Given the description of an element on the screen output the (x, y) to click on. 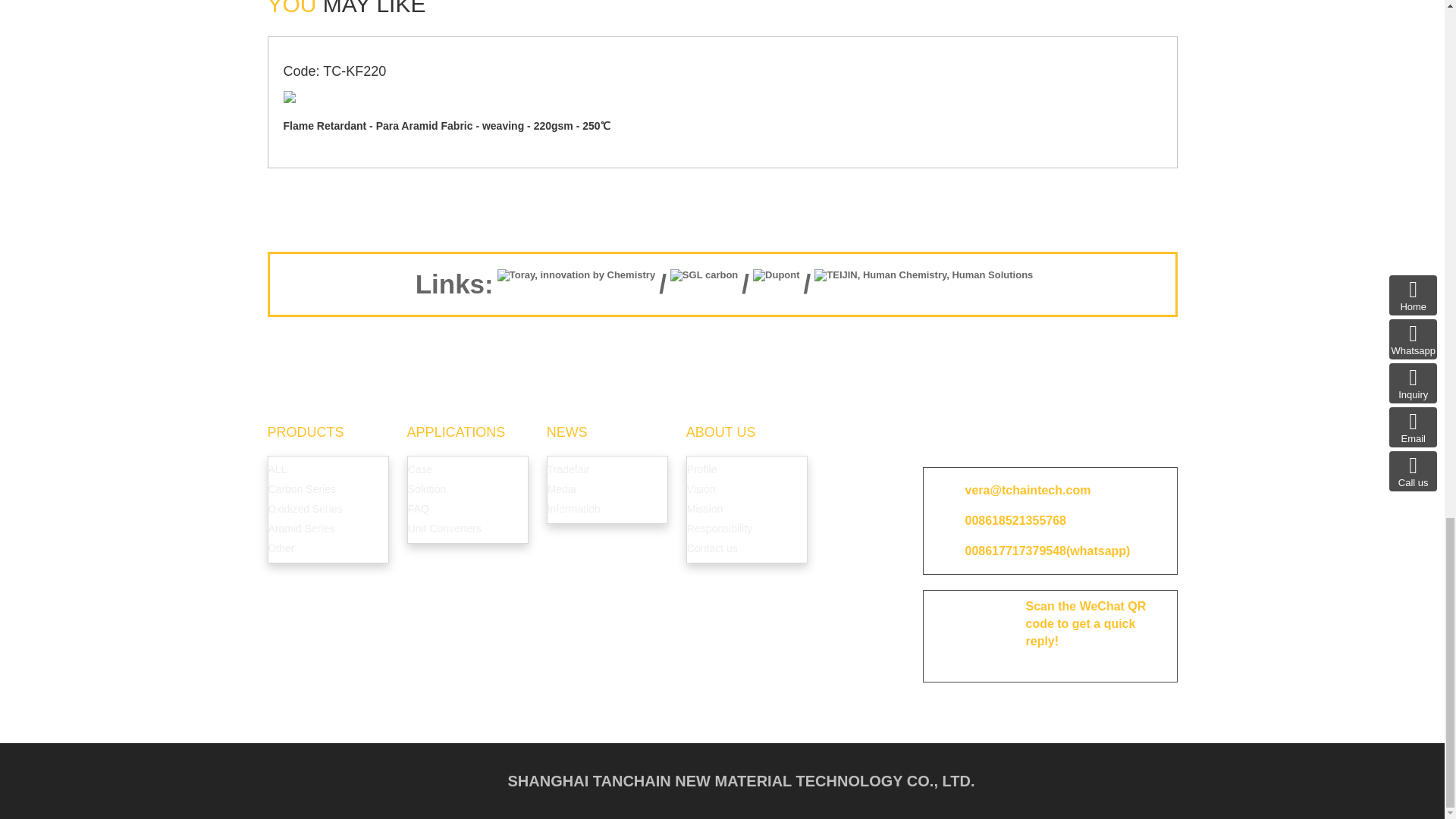
TEIJIN, Human Chemistry, Human Solutions (922, 284)
Linkedin (995, 437)
Facebook (951, 437)
Youtube (1039, 437)
Toray, innovation by Chemistry (576, 284)
Dupont (775, 284)
SGL carbon (703, 284)
